Given the description of an element on the screen output the (x, y) to click on. 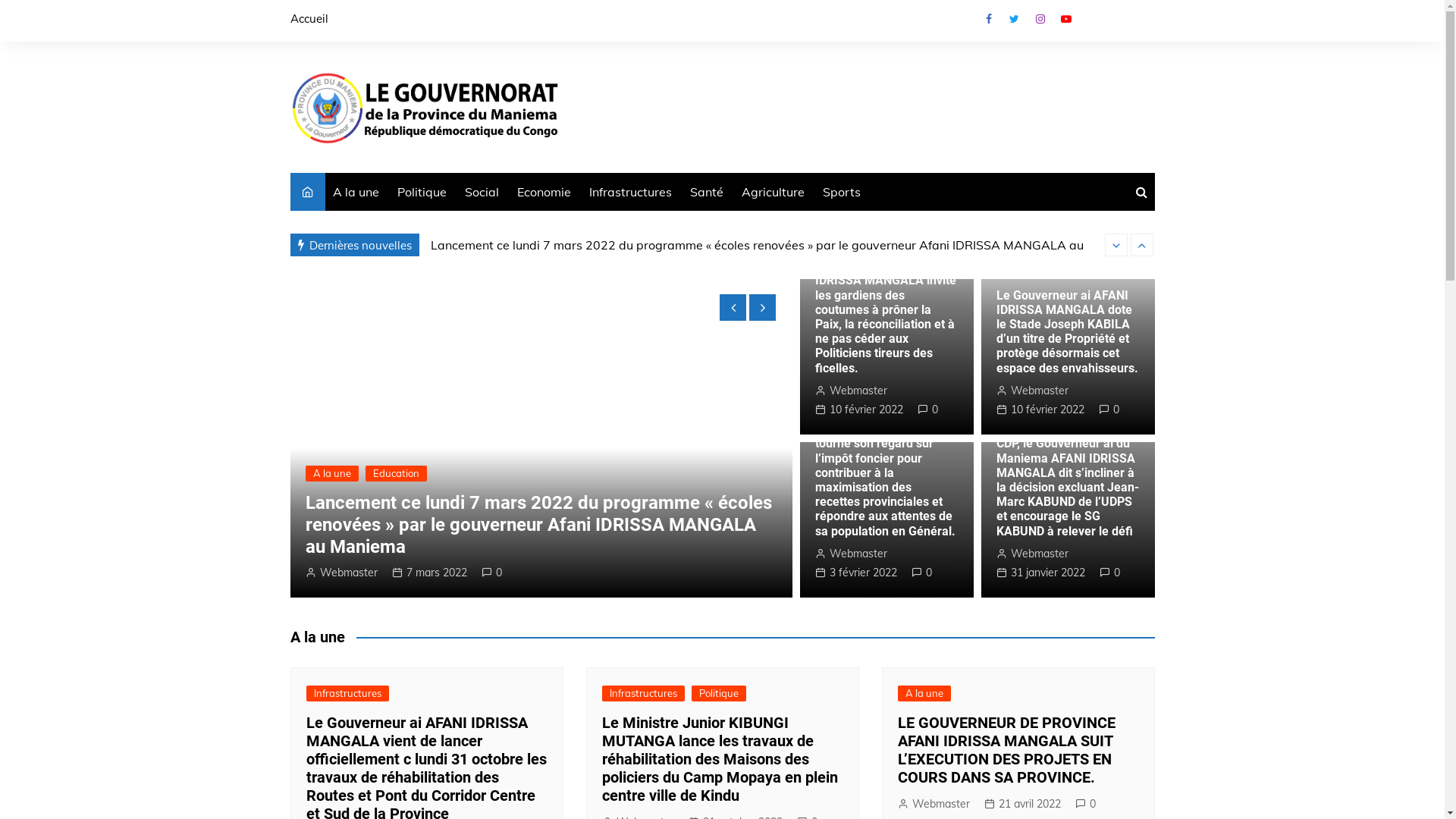
Webmaster Element type: text (851, 390)
Webmaster Element type: text (1032, 553)
Politique Element type: text (718, 693)
0 Element type: text (921, 572)
Politique Element type: text (421, 191)
Webmaster Element type: text (851, 553)
A la une Element type: text (330, 495)
Sports Element type: text (840, 191)
Vk Element type: text (1090, 22)
A la une Element type: text (354, 191)
Infrastructures Element type: text (347, 693)
0 Element type: text (1085, 803)
0 Element type: text (927, 409)
Agriculture Element type: text (773, 191)
Youtube Element type: text (1065, 18)
Instagram Element type: text (1039, 18)
Webmaster Element type: text (1032, 390)
Social Element type: text (480, 191)
A la une Element type: text (923, 693)
1 avril 2022 Element type: text (426, 572)
Economie Element type: text (543, 191)
Webmaster Element type: text (340, 572)
Twitter Element type: text (1013, 18)
21 avril 2022 Element type: text (1022, 803)
0 Element type: text (486, 572)
Facebook Element type: text (987, 18)
Accueil Element type: text (308, 18)
Infrastructures Element type: text (643, 693)
31 janvier 2022 Element type: text (1040, 572)
0 Element type: text (1109, 572)
Infrastructures Element type: text (629, 191)
Linkedin Element type: text (1116, 22)
Vimeo Element type: text (1142, 22)
Webmaster Element type: text (933, 803)
0 Element type: text (1108, 409)
